Given the description of an element on the screen output the (x, y) to click on. 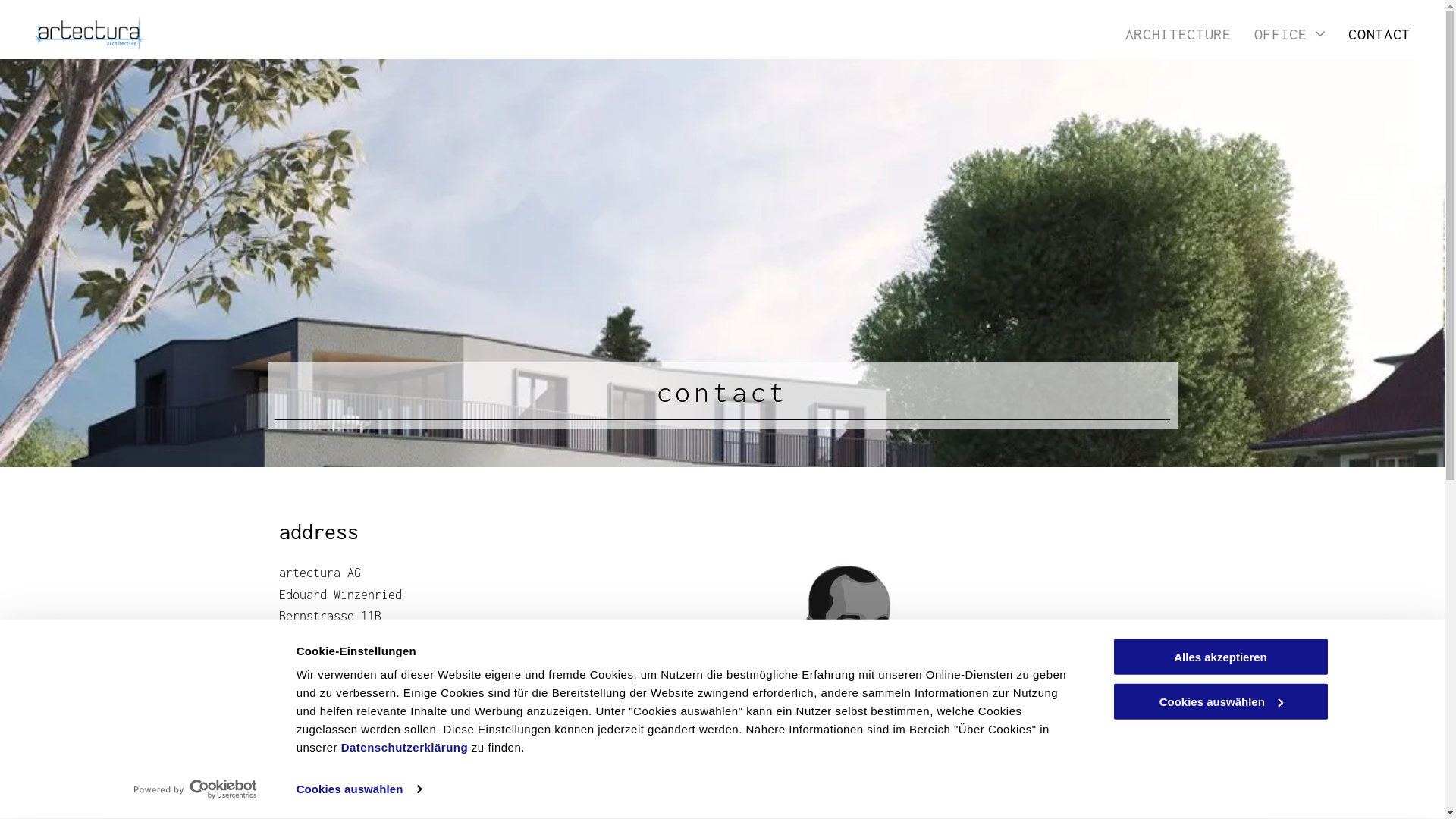
OFFICE Element type: text (1278, 33)
CONTACT Element type: text (1367, 33)
info@artectura.ch Element type: text (347, 718)
Alles akzeptieren Element type: text (1219, 656)
+41 31 352 52 25 Element type: text (342, 696)
ARCHITECTURE Element type: text (1166, 33)
